Given the description of an element on the screen output the (x, y) to click on. 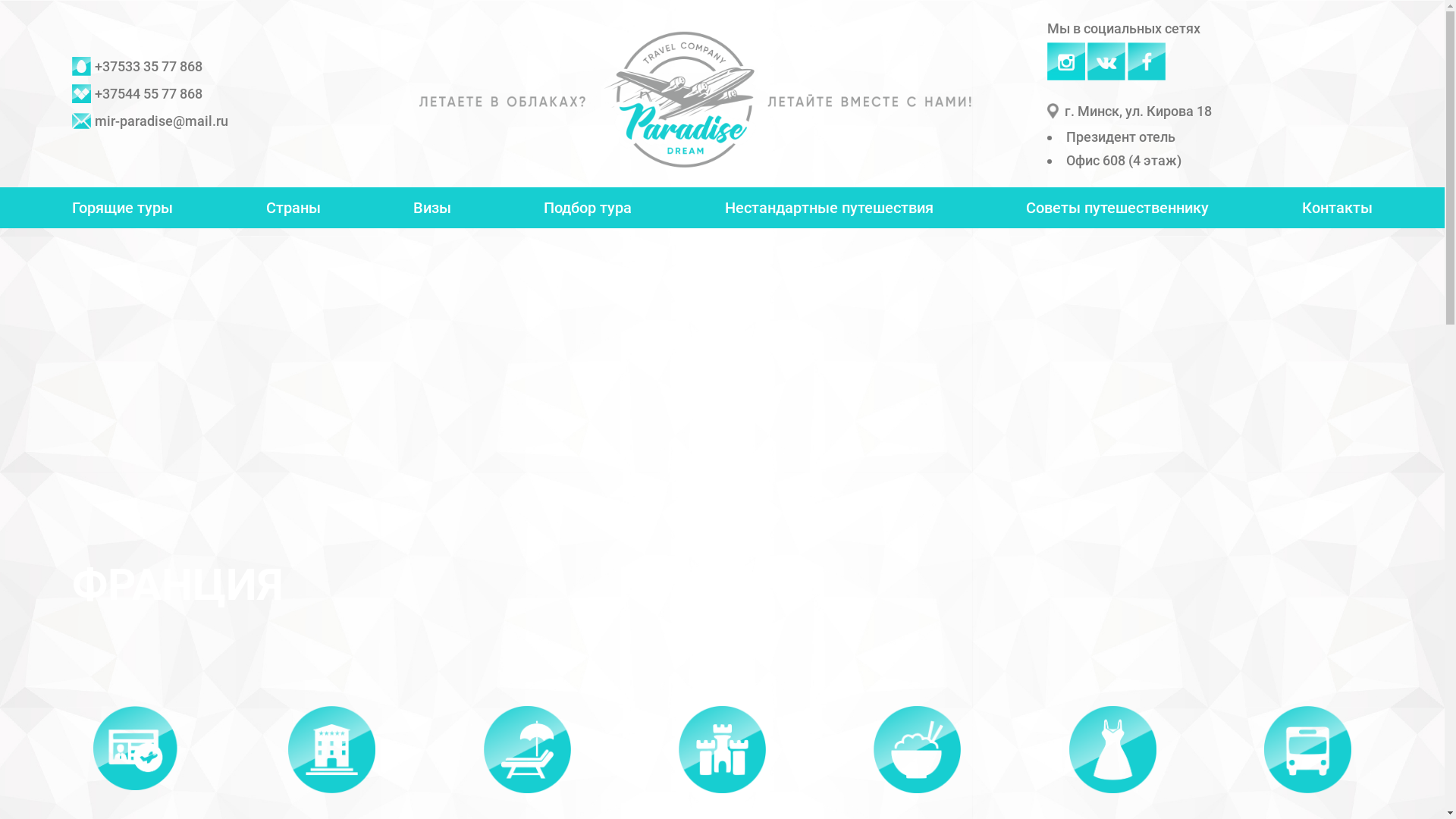
+37533 35 77 868 Element type: text (137, 66)
+37544 55 77 868 Element type: text (137, 93)
